Given the description of an element on the screen output the (x, y) to click on. 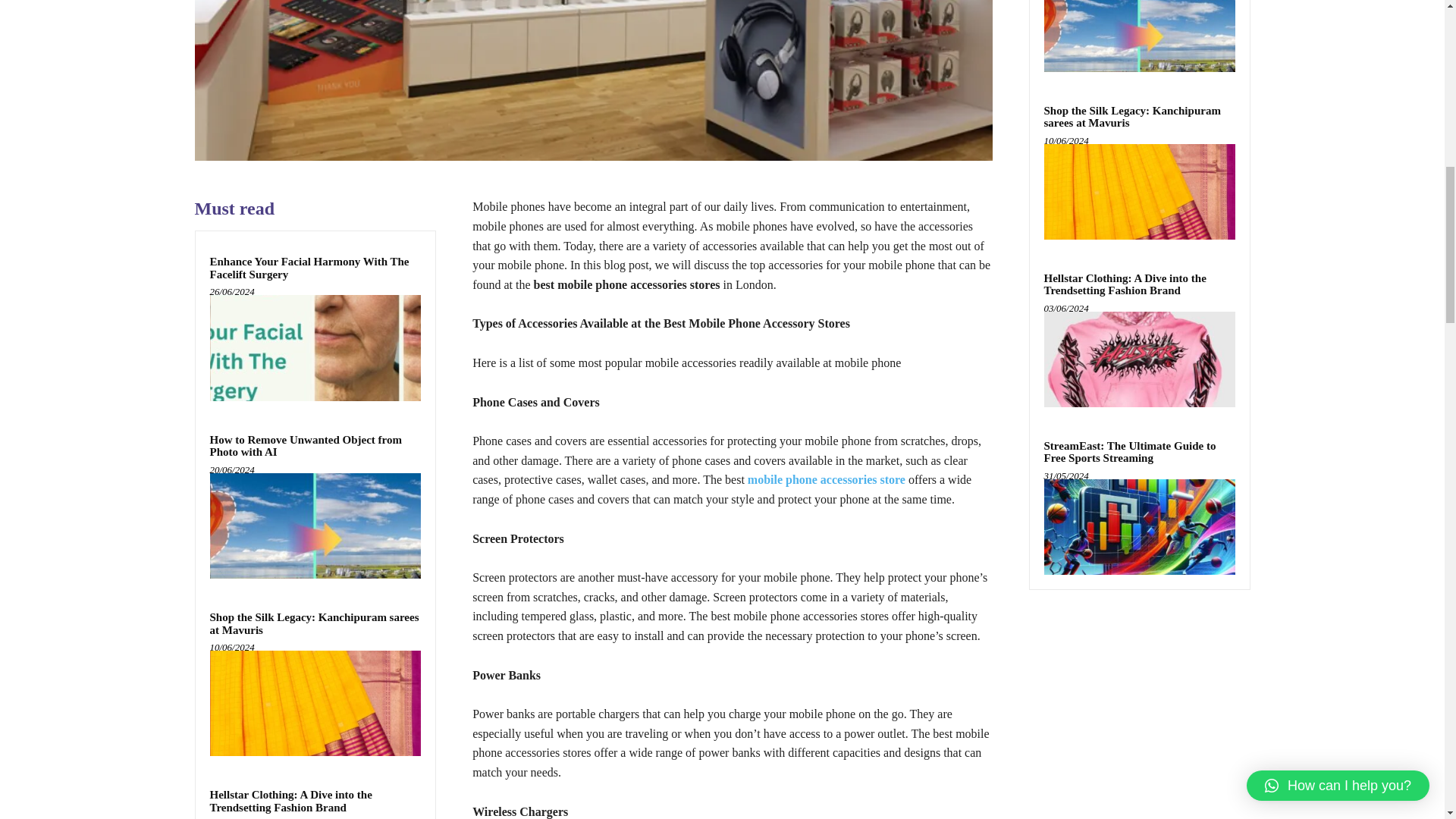
Phone (592, 80)
